Given the description of an element on the screen output the (x, y) to click on. 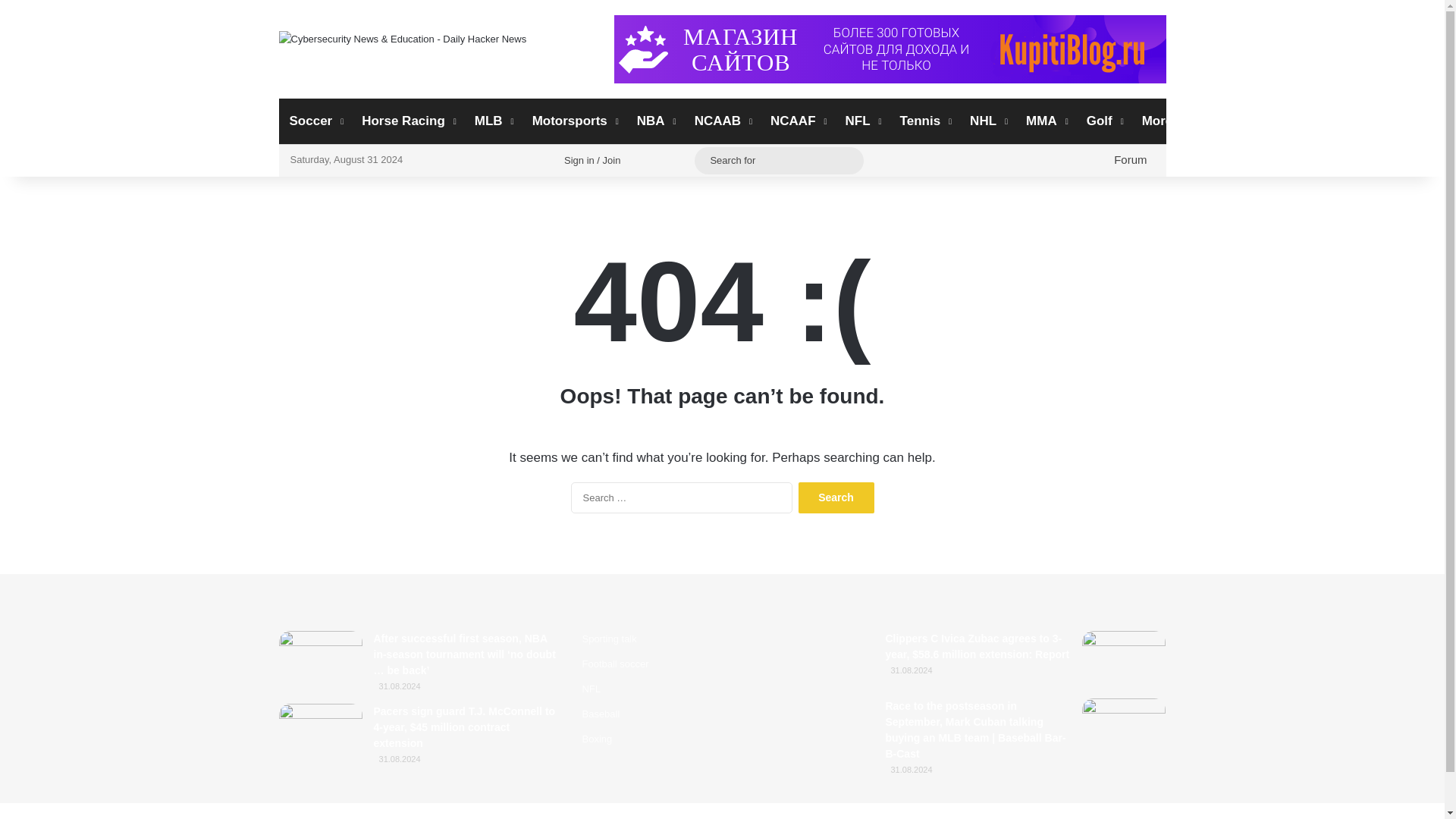
Motorsports (573, 121)
Search (835, 497)
Search (835, 497)
Horse Racing (407, 121)
Search for (778, 159)
MLB (492, 121)
Soccer (315, 121)
NBA (655, 121)
